Given the description of an element on the screen output the (x, y) to click on. 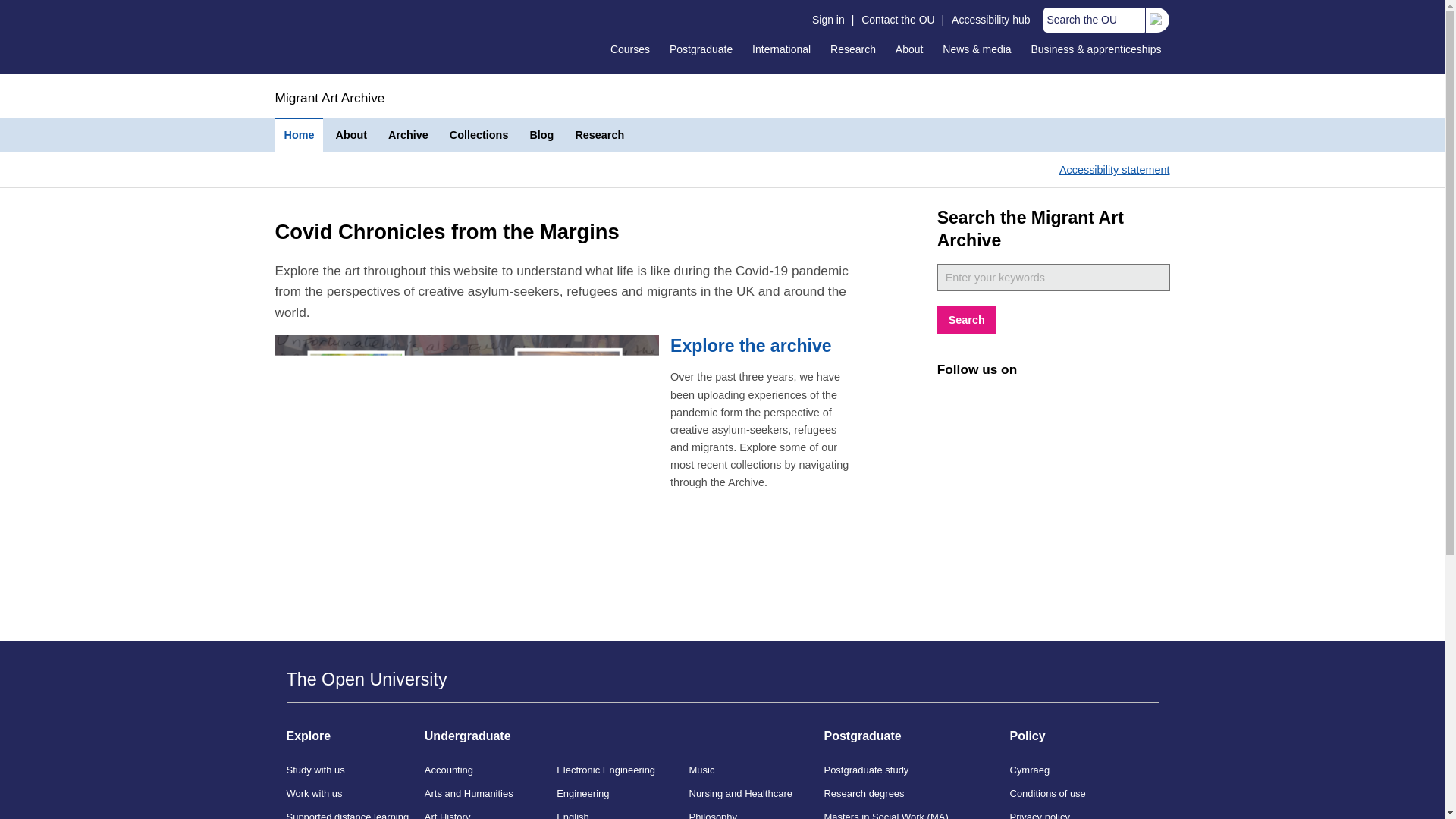
Sign in (828, 19)
Search (966, 320)
Search (1166, 24)
Accessibility statement (1114, 169)
Contact the OU (898, 19)
Home (299, 135)
About (908, 49)
Courses (630, 49)
Migrant Art Archive (329, 97)
Blog (540, 135)
